Given the description of an element on the screen output the (x, y) to click on. 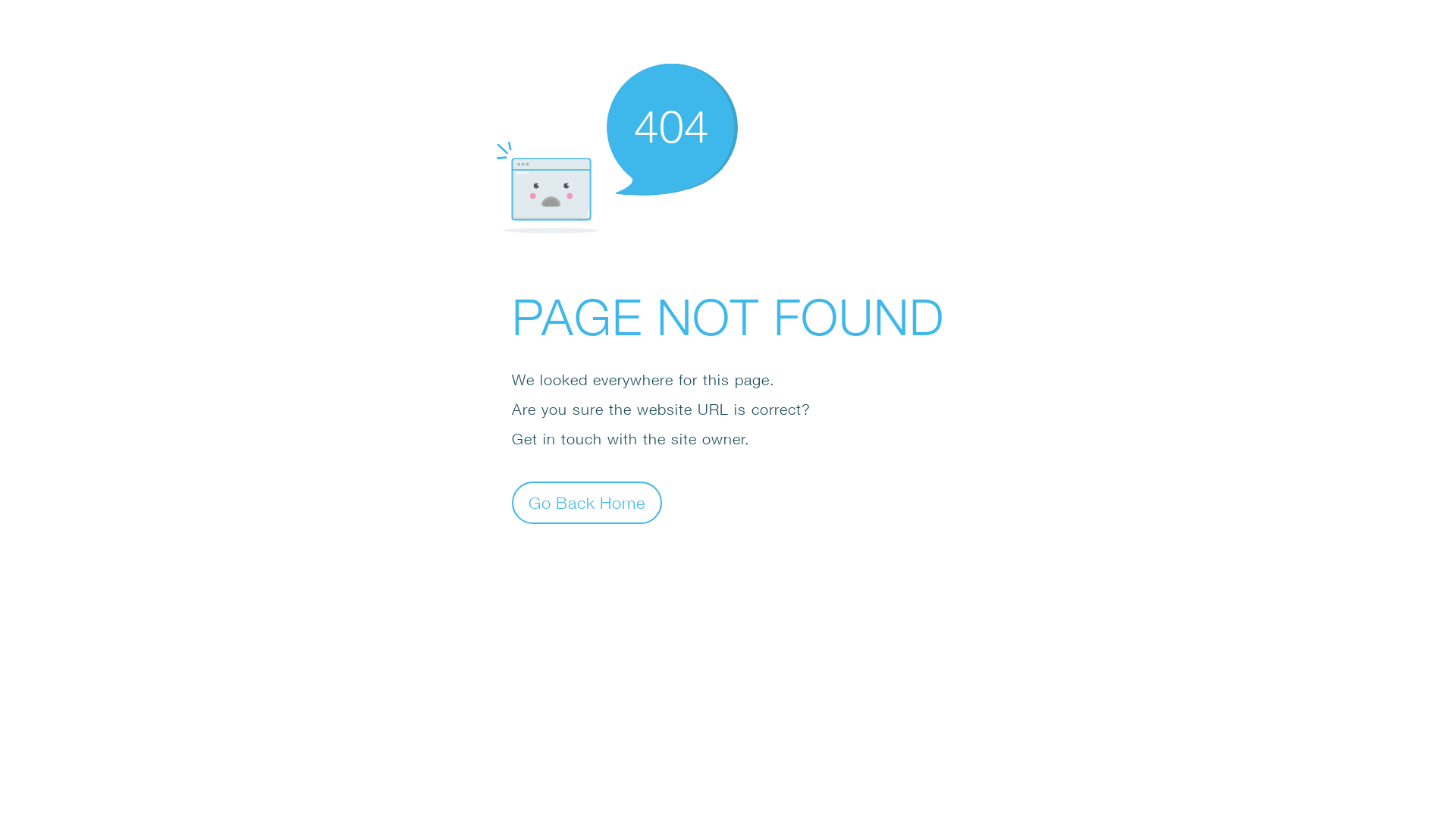
Go Back Home Element type: text (586, 502)
